Given the description of an element on the screen output the (x, y) to click on. 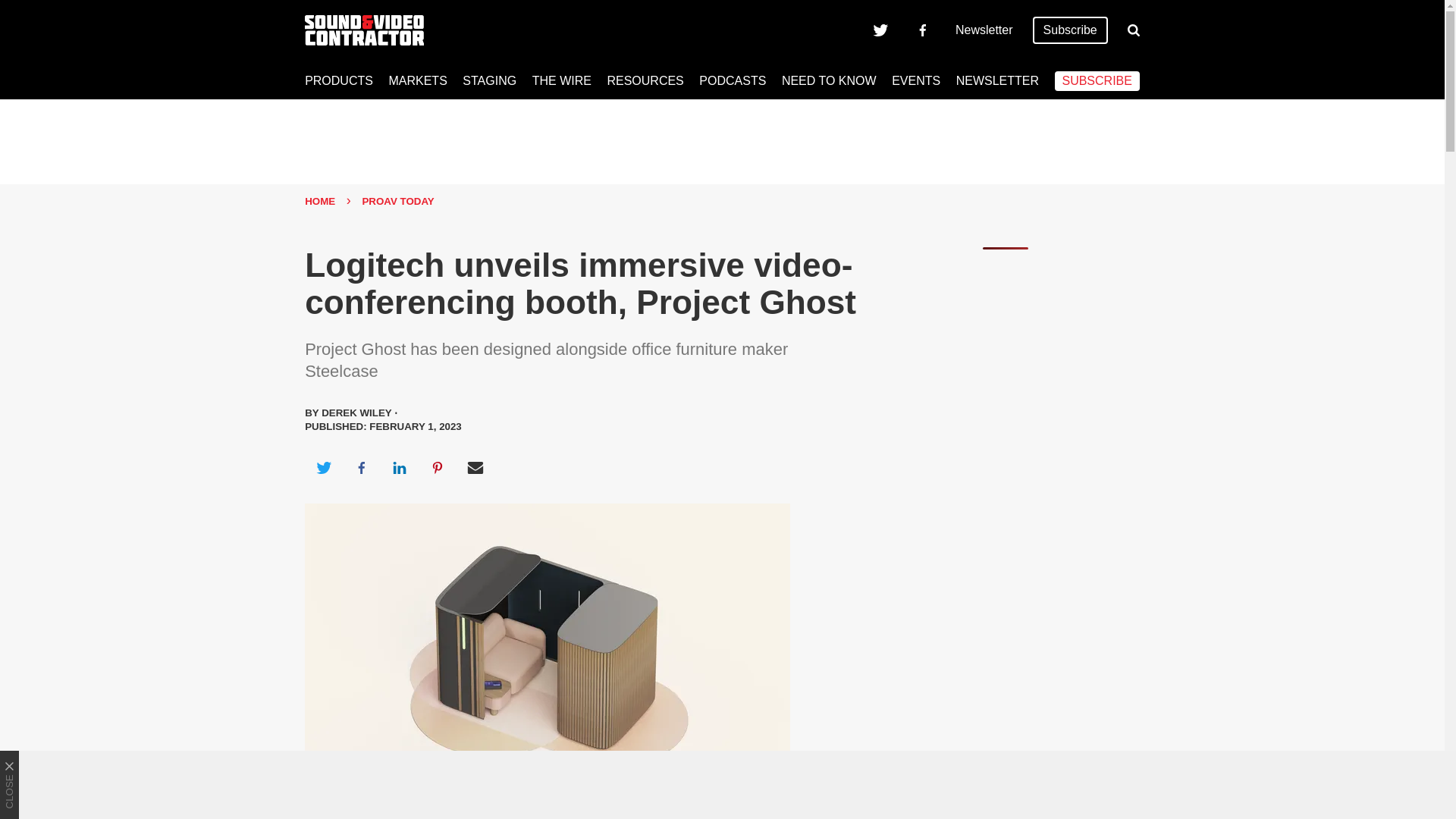
Share via Email (476, 467)
Share on LinkedIn (399, 467)
Share on Twitter (323, 467)
Share on Facebook (361, 467)
Share on Pinterest (438, 467)
